Given the description of an element on the screen output the (x, y) to click on. 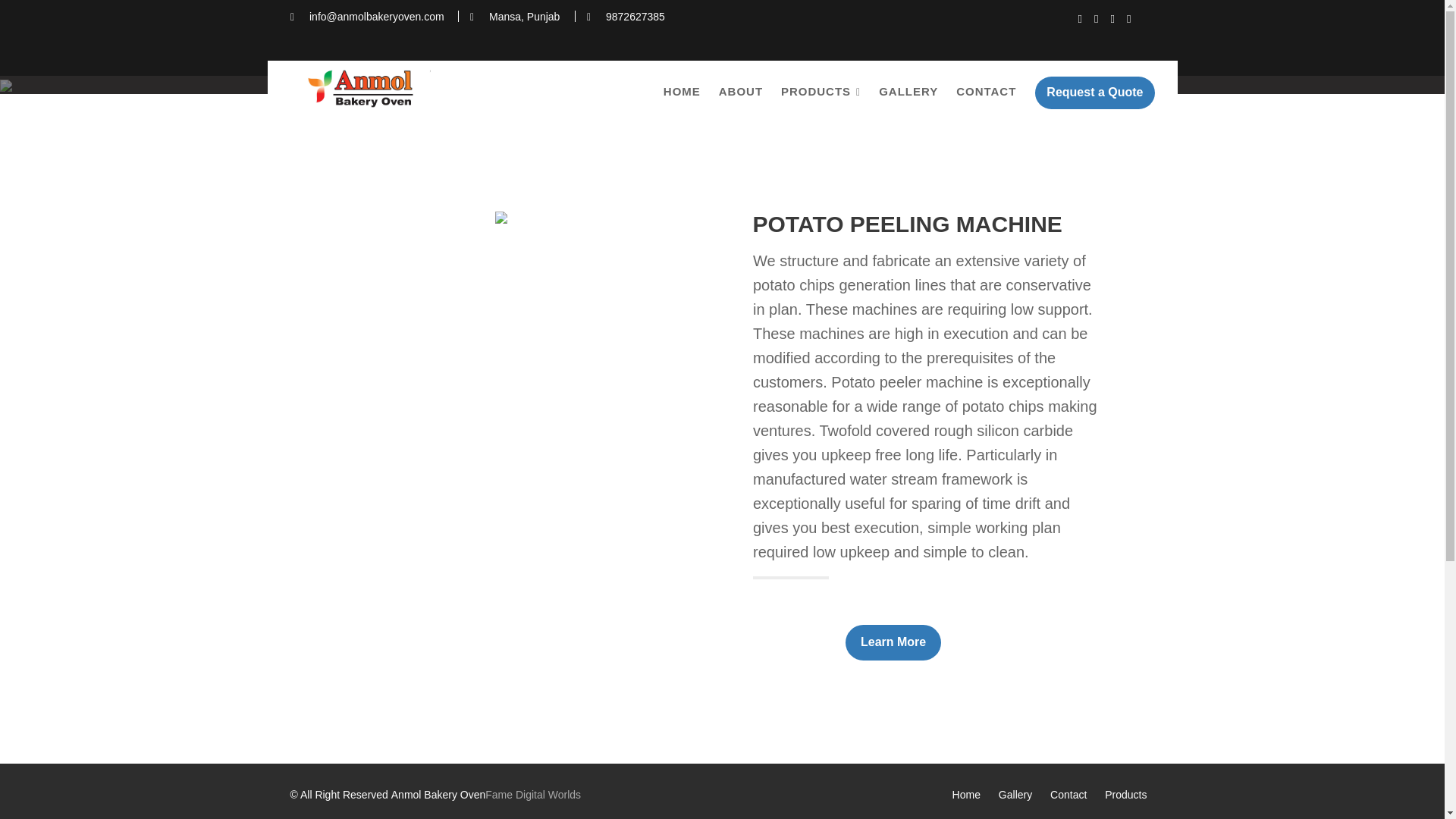
ABOUT (740, 91)
Home (598, 502)
Gallery (601, 536)
Book Now (796, 642)
Learn More (432, 713)
Contact (603, 571)
Learn More (892, 642)
Products (606, 604)
GALLERY (907, 91)
PRODUCTS (820, 91)
